Given the description of an element on the screen output the (x, y) to click on. 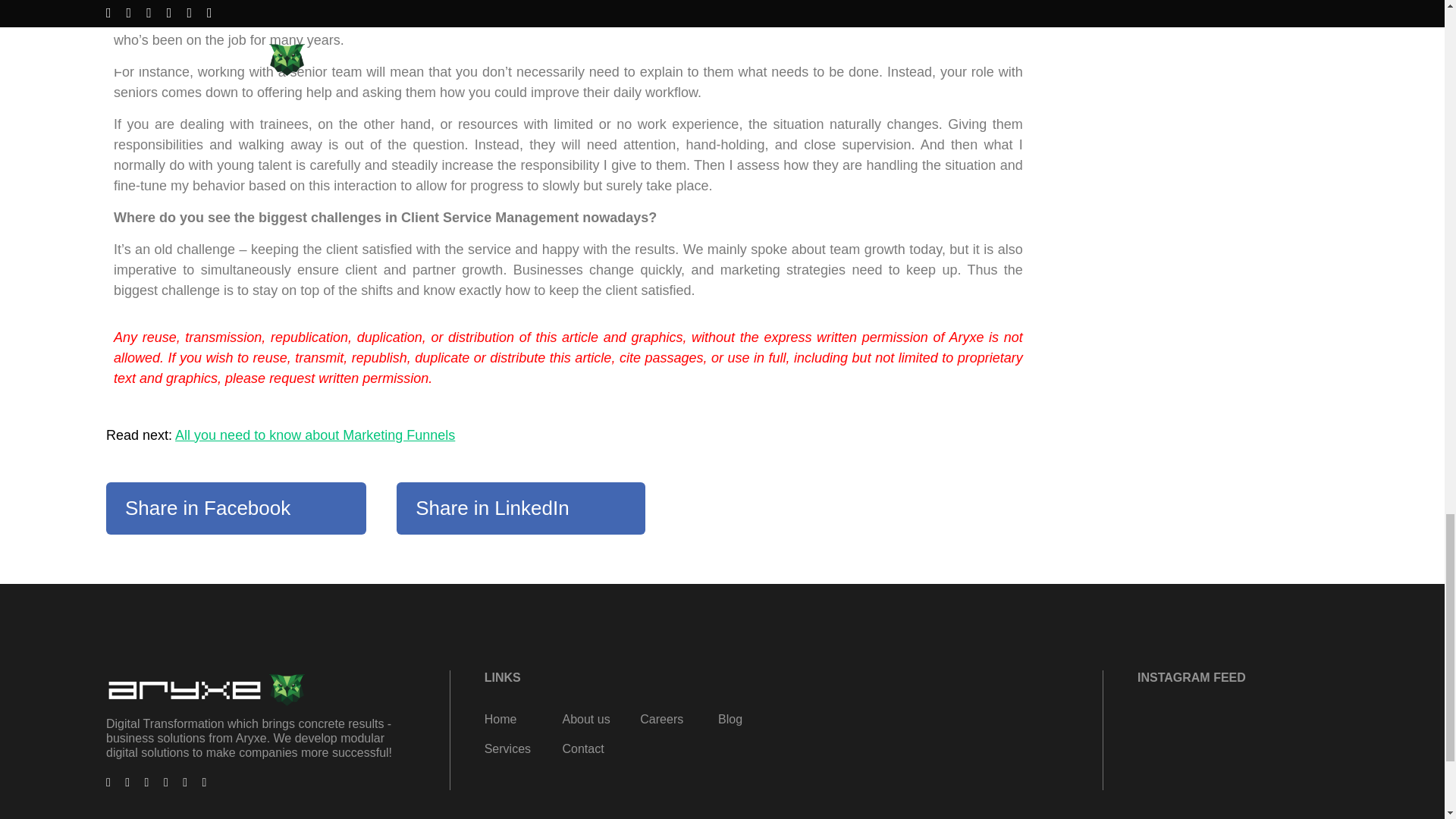
Share in LinkedIn (520, 508)
Share in Facebook (236, 508)
Careers (661, 718)
All you need to know about Marketing Funnels (314, 435)
Home (500, 718)
Services (507, 748)
Contact (583, 748)
Blog (729, 718)
About us (586, 718)
